Given the description of an element on the screen output the (x, y) to click on. 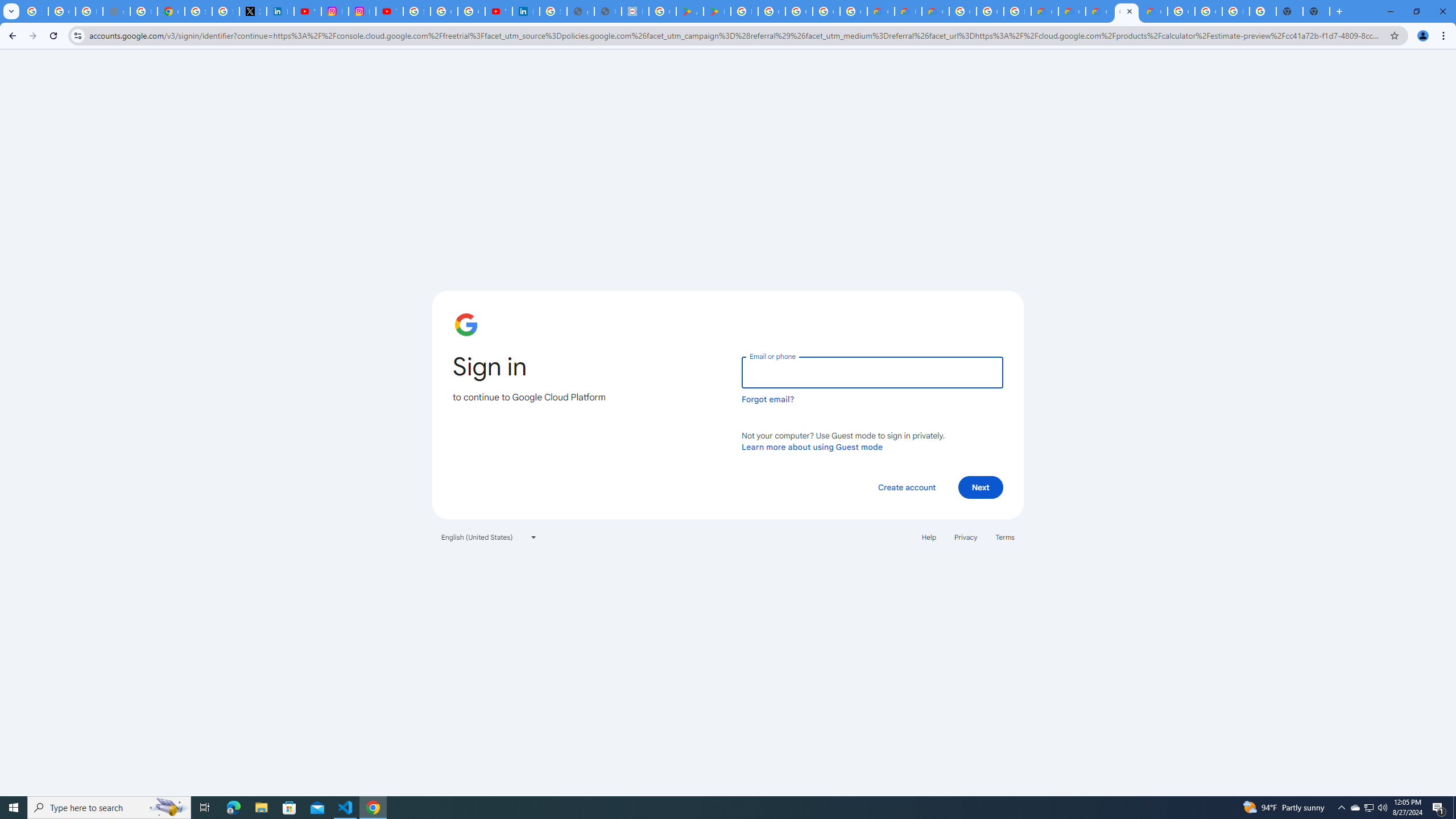
Email or phone (871, 372)
New Tab (1316, 11)
Google Workspace - Specific Terms (826, 11)
YouTube Content Monetization Policies - How YouTube Works (307, 11)
Android Apps on Google Play (690, 11)
